Given the description of an element on the screen output the (x, y) to click on. 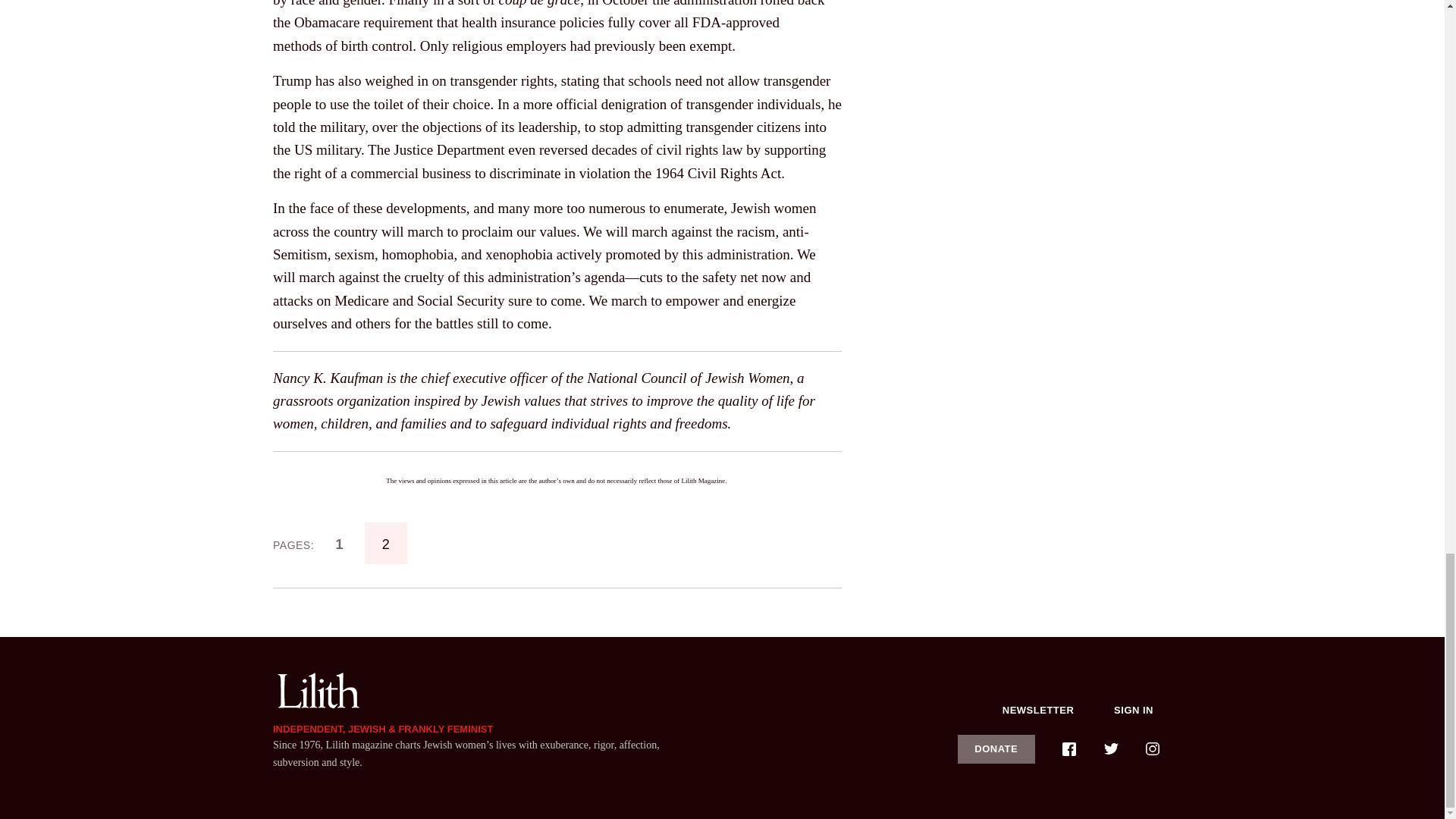
DONATE (996, 748)
SIGN IN (1134, 710)
NEWSLETTER (1038, 710)
1 (338, 543)
